Given the description of an element on the screen output the (x, y) to click on. 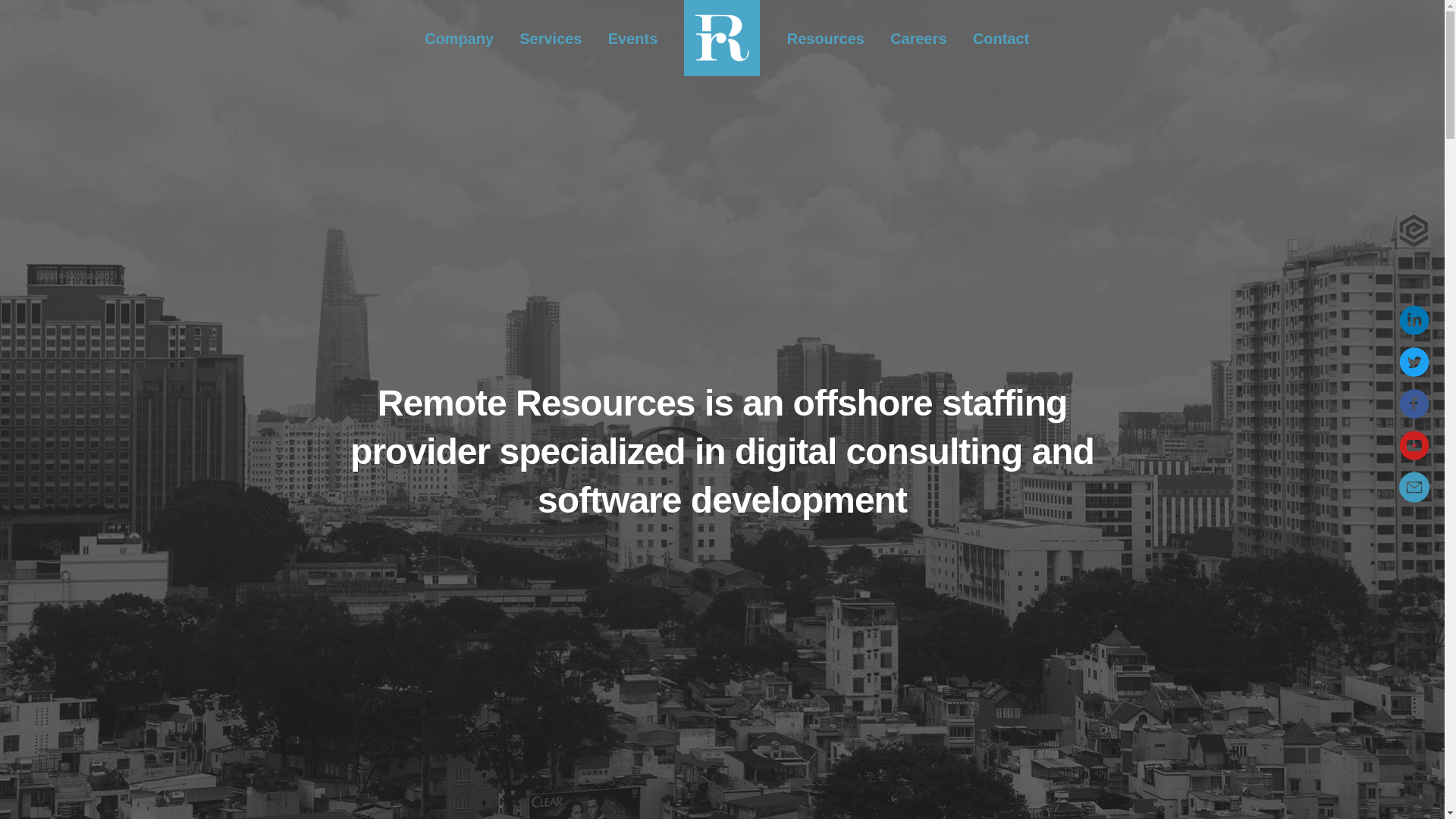
Remote Resources (722, 36)
Services (550, 38)
Resources (826, 38)
Contact (1000, 38)
Company (459, 38)
Events (632, 38)
Careers (918, 38)
